Given the description of an element on the screen output the (x, y) to click on. 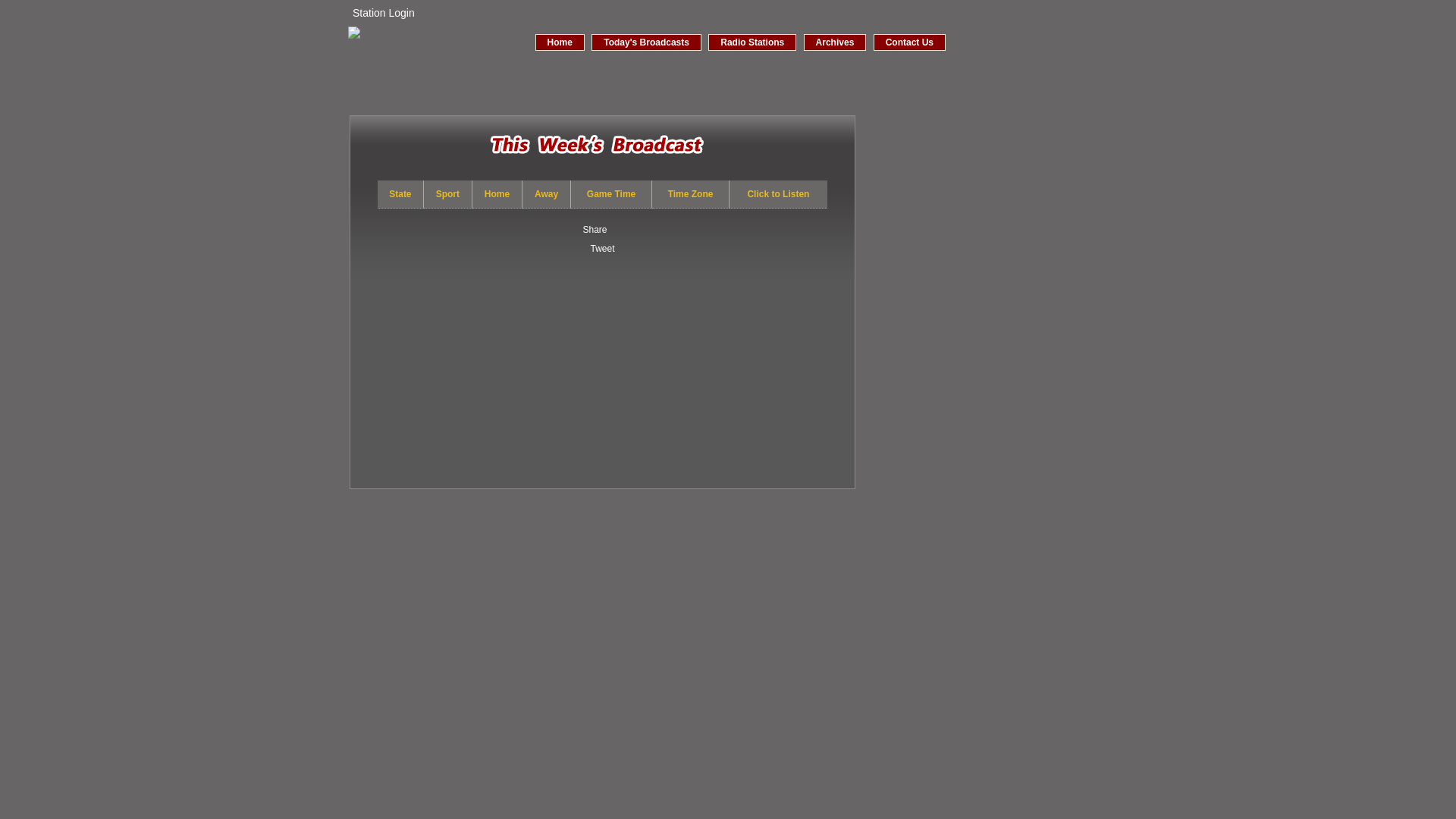
Tweet (601, 248)
Today's Broadcasts (646, 42)
Radio Stations (751, 42)
Archives (834, 42)
Home (560, 42)
Contact Us (908, 42)
Station Login (383, 12)
Share (594, 229)
